Given the description of an element on the screen output the (x, y) to click on. 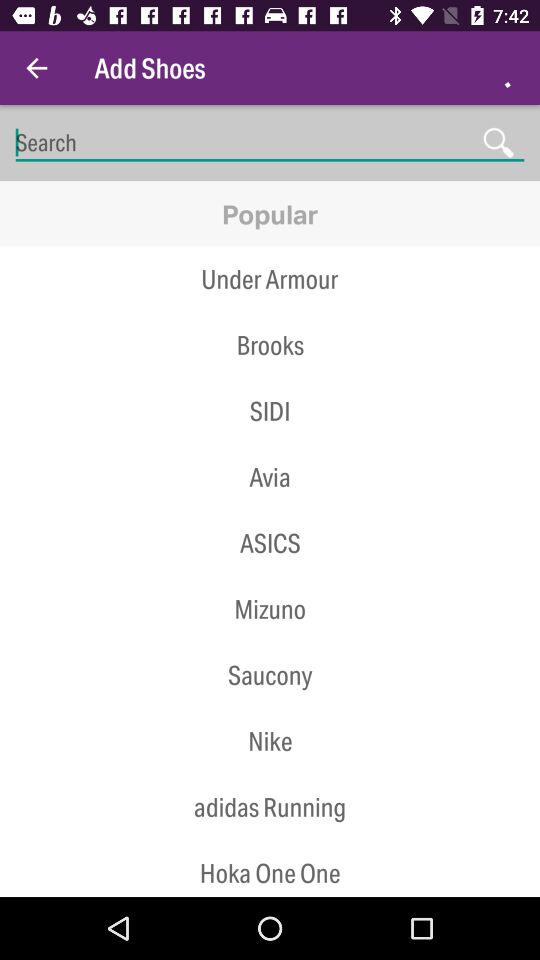
choose the nike icon (270, 740)
